Given the description of an element on the screen output the (x, y) to click on. 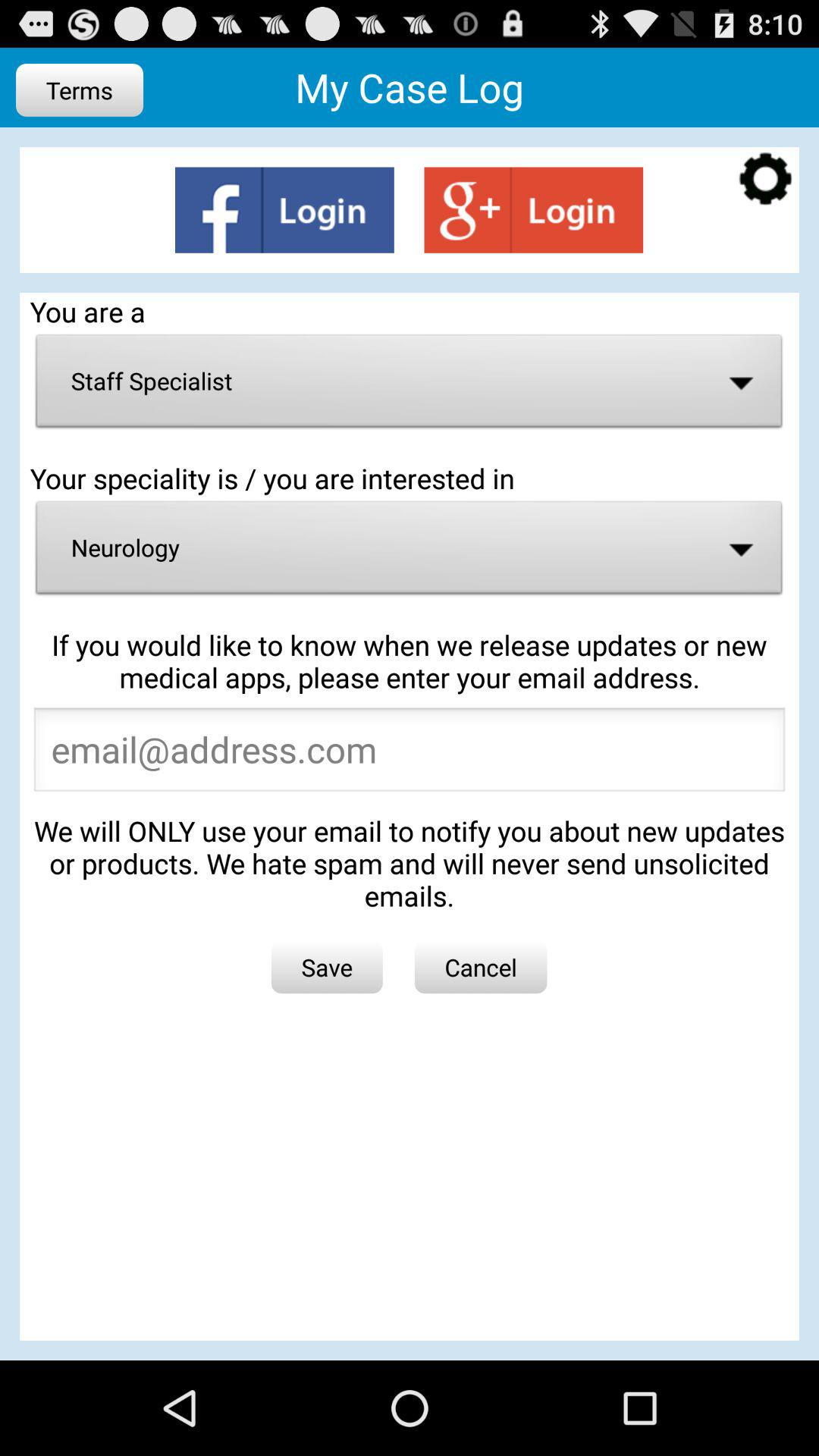
email address field (409, 753)
